Given the description of an element on the screen output the (x, y) to click on. 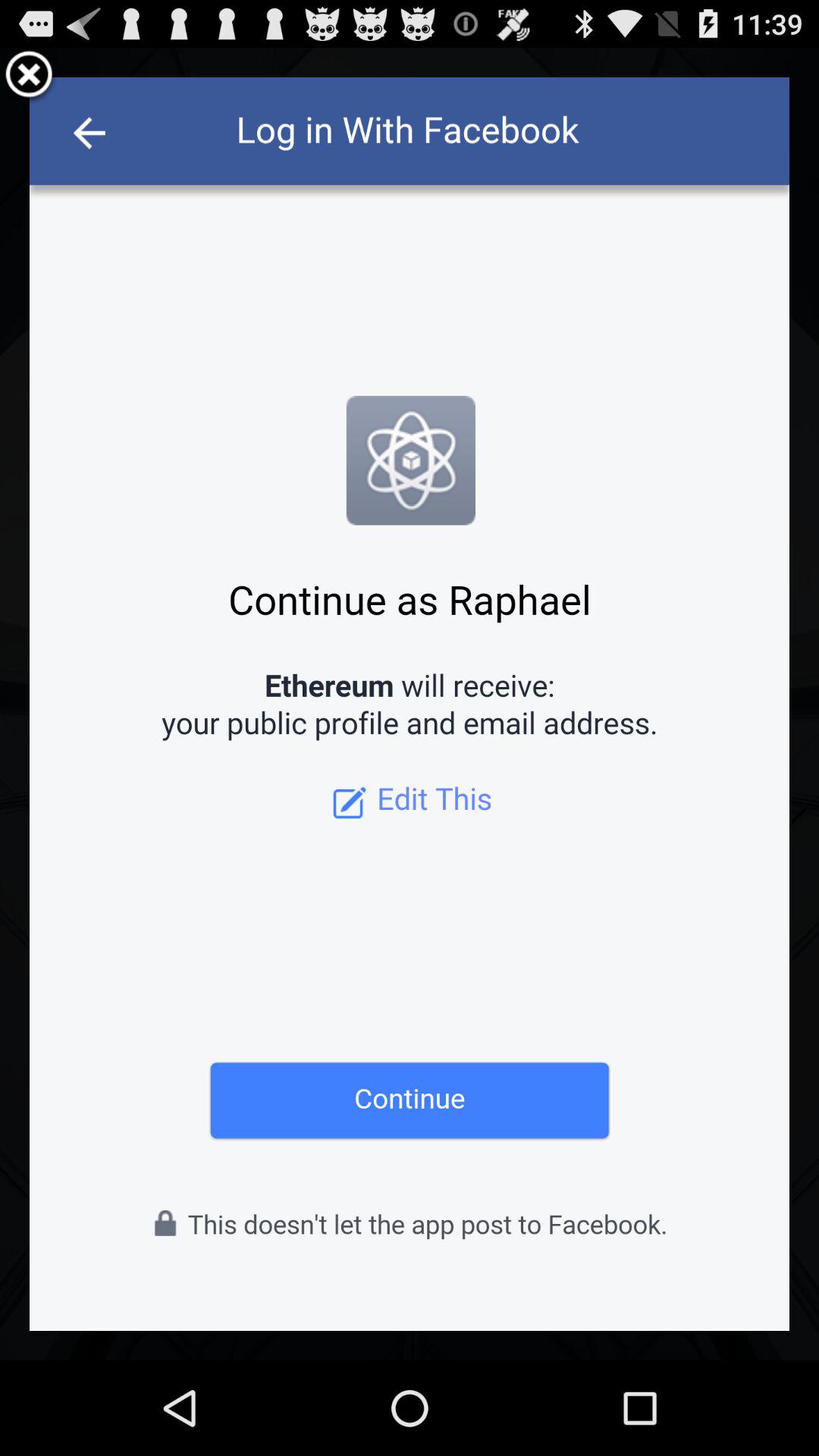
close the tab (29, 76)
